Given the description of an element on the screen output the (x, y) to click on. 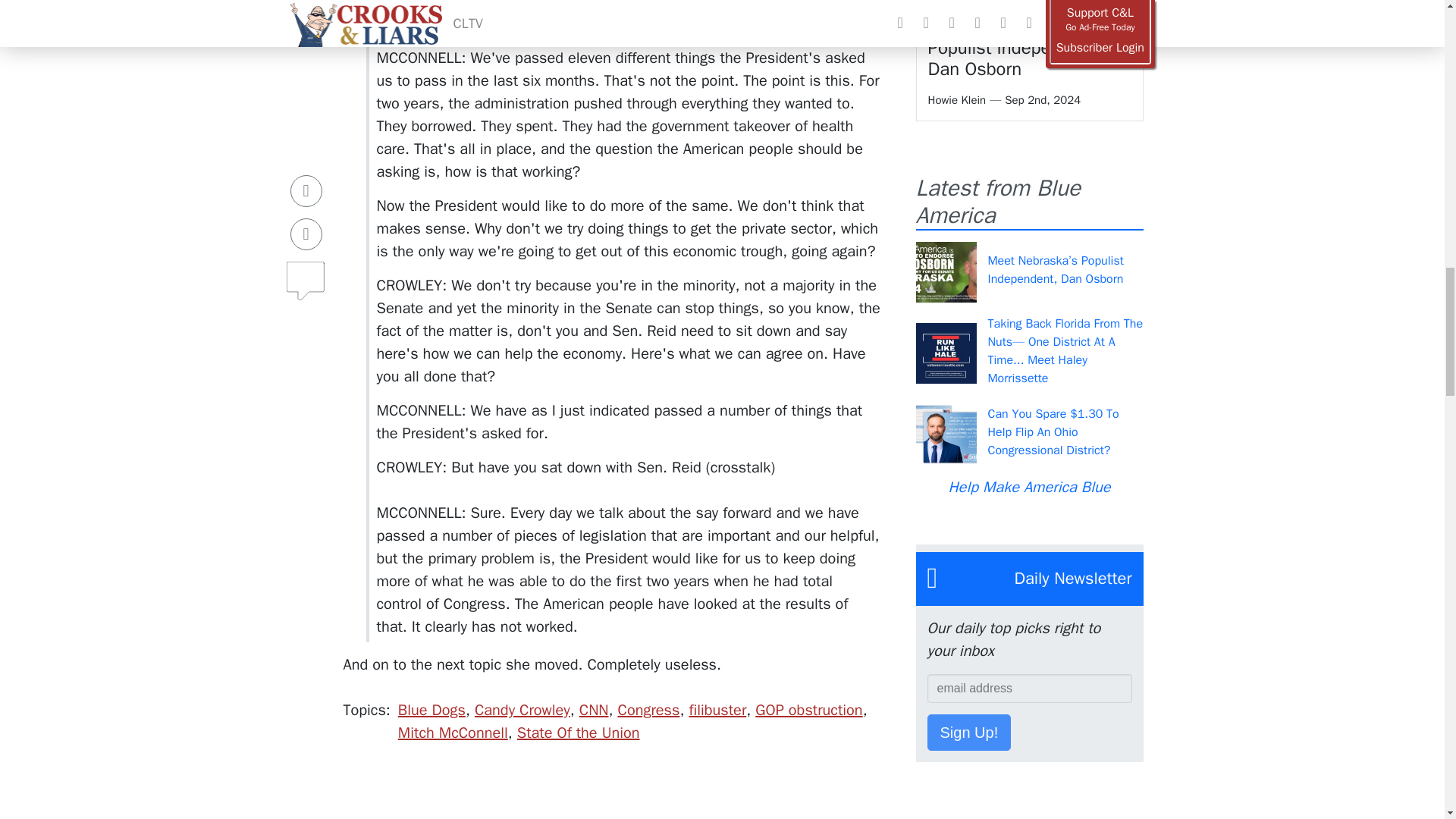
Candy Crowley (522, 710)
GOP obstruction (808, 710)
Congress (648, 710)
CNN (593, 710)
Blue Dogs (431, 710)
Mitch McConnell (452, 732)
filibuster (716, 710)
